Given the description of an element on the screen output the (x, y) to click on. 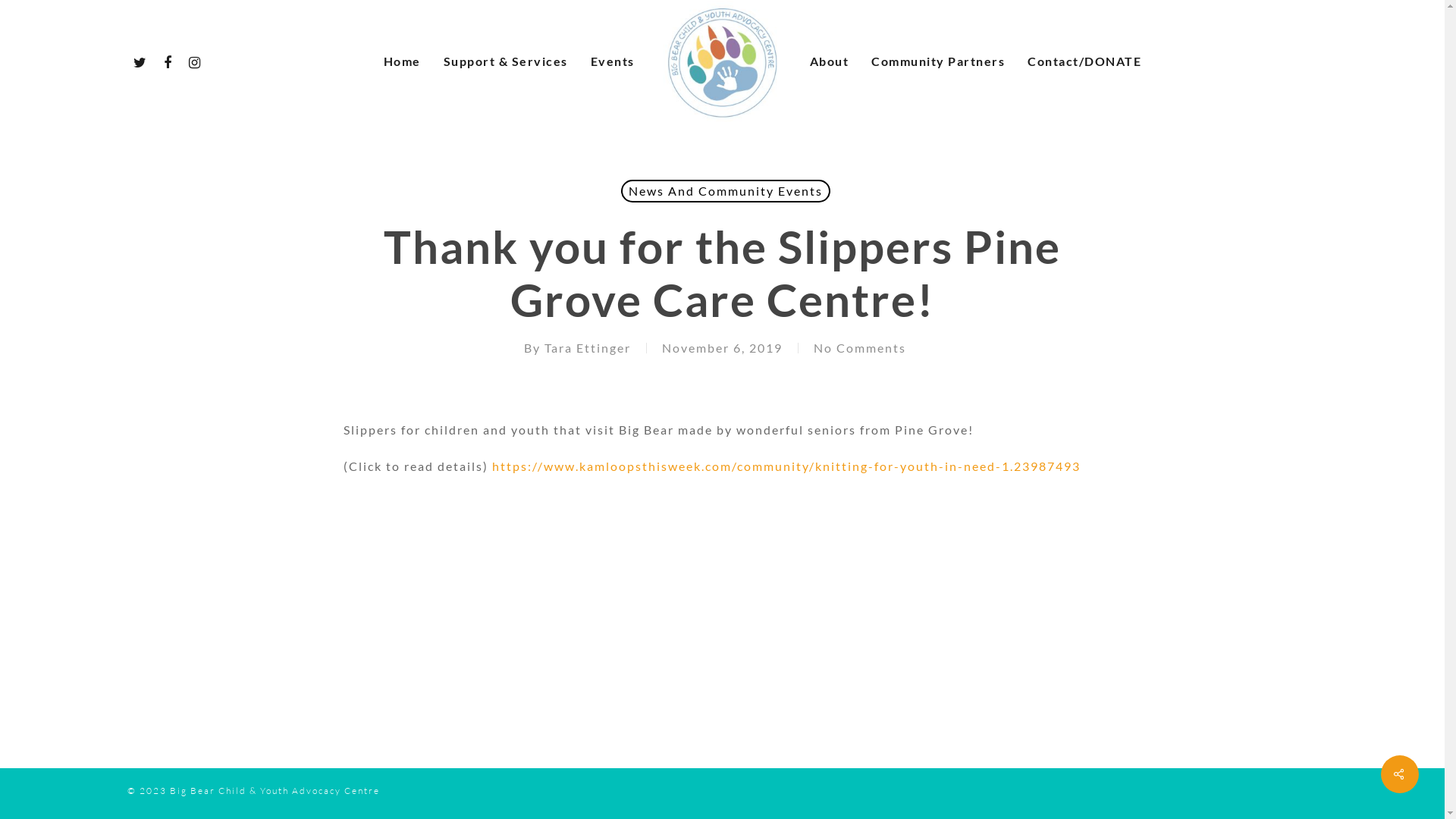
Support & Services Element type: text (504, 61)
About Element type: text (829, 61)
No Comments Element type: text (858, 347)
Events Element type: text (611, 61)
Community Partners Element type: text (937, 61)
facebook Element type: text (168, 61)
Contact/DONATE Element type: text (1084, 61)
twitter Element type: text (140, 61)
Home Element type: text (401, 61)
Tara Ettinger Element type: text (587, 347)
instagram Element type: text (195, 61)
News And Community Events Element type: text (725, 190)
